Given the description of an element on the screen output the (x, y) to click on. 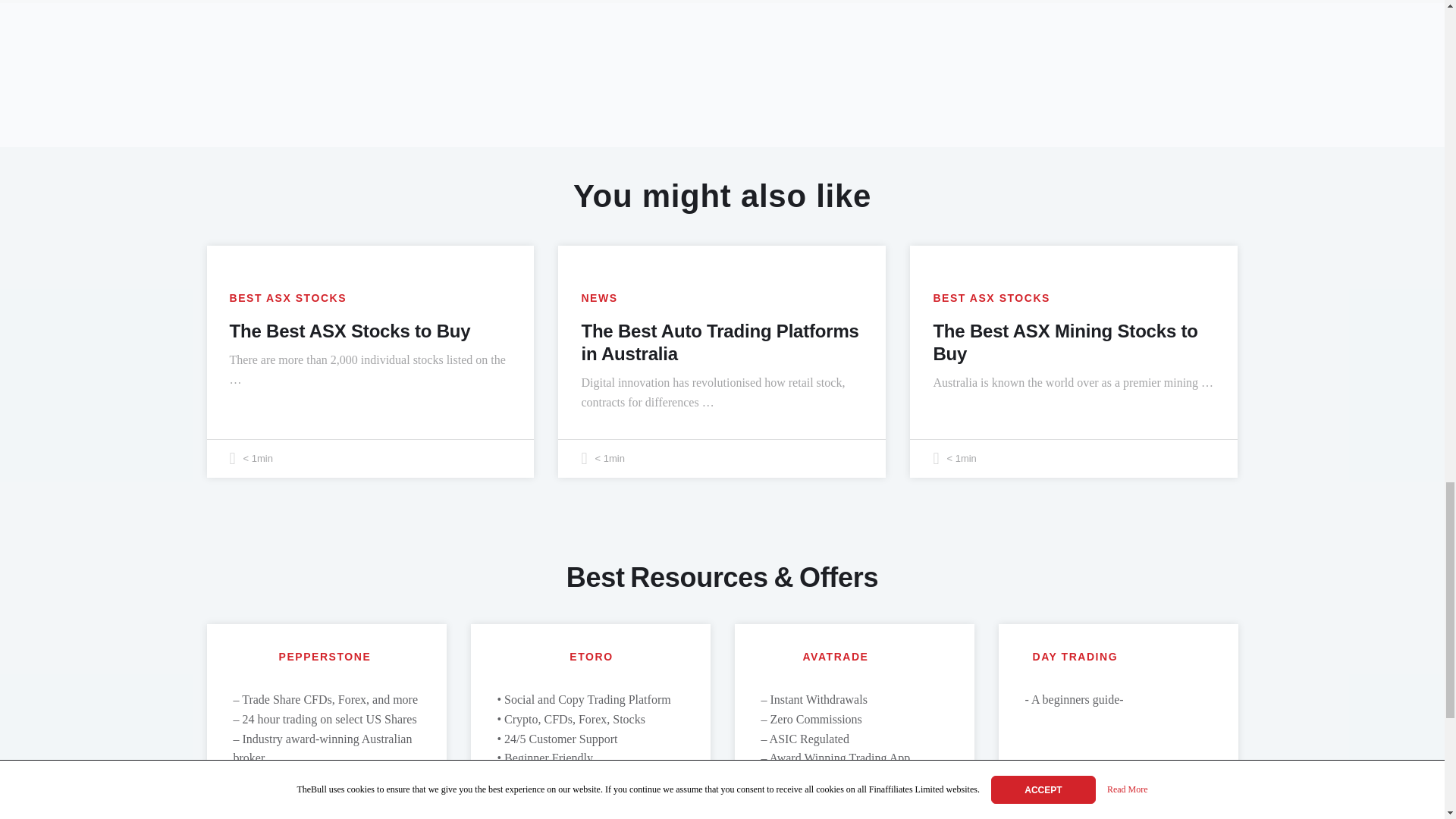
BEST ASX STOCKS (991, 297)
NEWS (598, 297)
BEST ASX STOCKS (287, 297)
The Best ASX Stocks to Buy (349, 331)
The Best Auto Trading Platforms in Australia (719, 342)
